Given the description of an element on the screen output the (x, y) to click on. 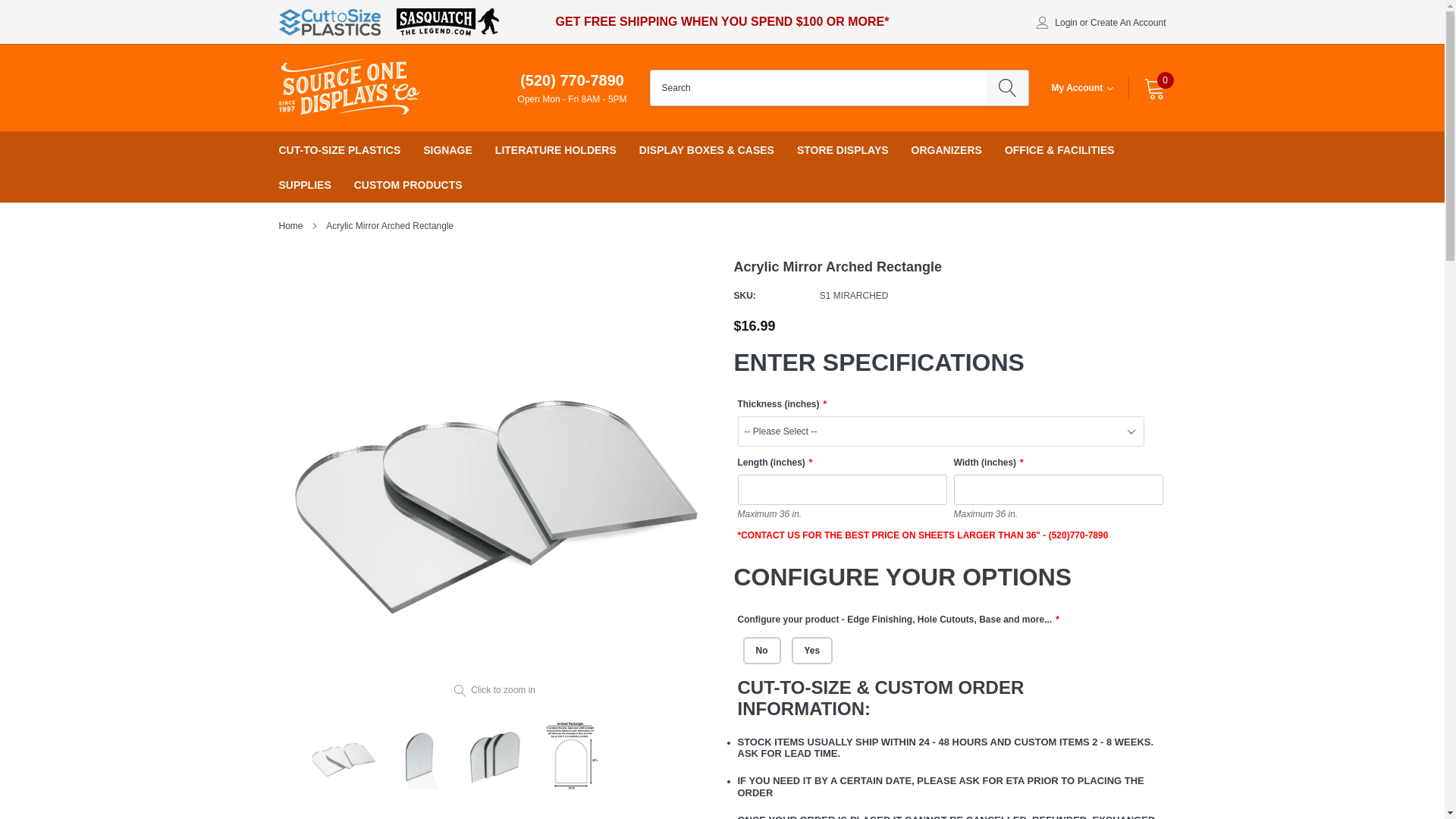
Create An Account (1128, 22)
CUT-TO-SIZE PLASTICS (340, 150)
Login (1065, 22)
search (1007, 87)
My Account (1082, 87)
0 (1154, 87)
SIGNAGE (447, 150)
